Given the description of an element on the screen output the (x, y) to click on. 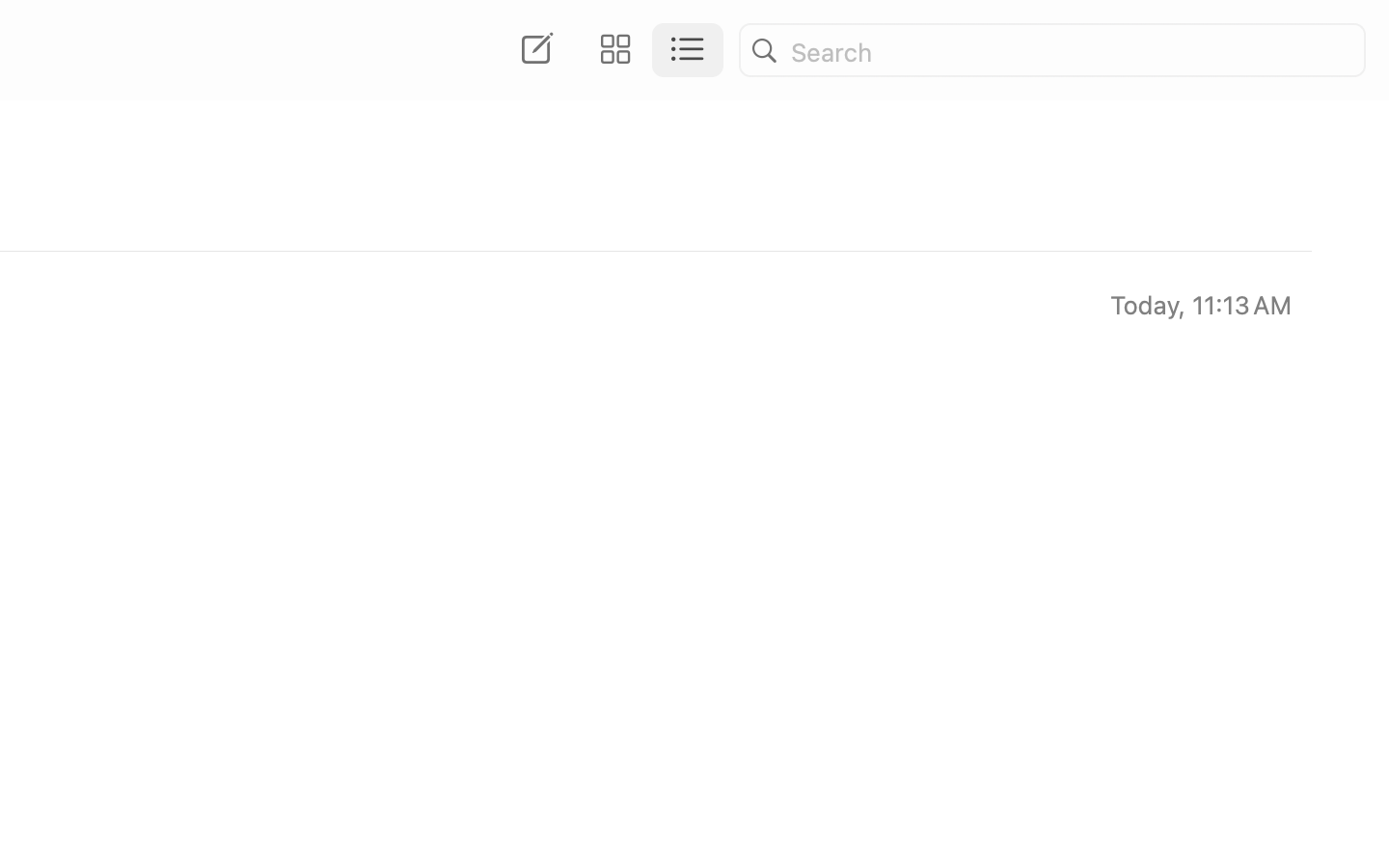
Today, 11:13 AM Element type: AXStaticText (1199, 304)
